Given the description of an element on the screen output the (x, y) to click on. 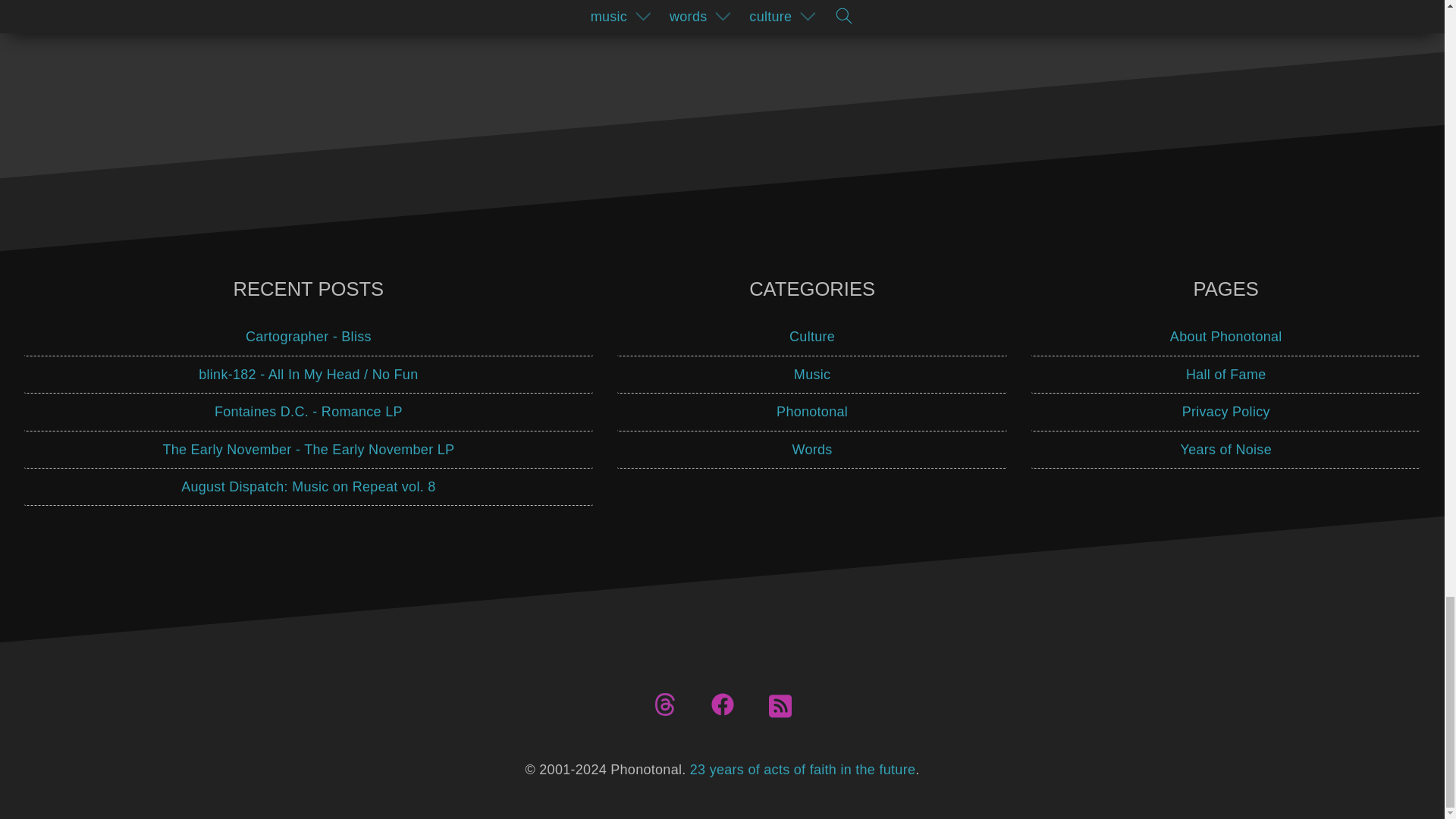
Facebook (722, 703)
Culture (812, 336)
Fontaines D.C. - Romance LP (308, 411)
Threads (665, 703)
Cartographer - Bliss (308, 336)
August Dispatch: Music on Repeat vol. 8 (308, 487)
Go (904, 15)
Go (904, 15)
The Early November - The Early November LP (308, 449)
